Given the description of an element on the screen output the (x, y) to click on. 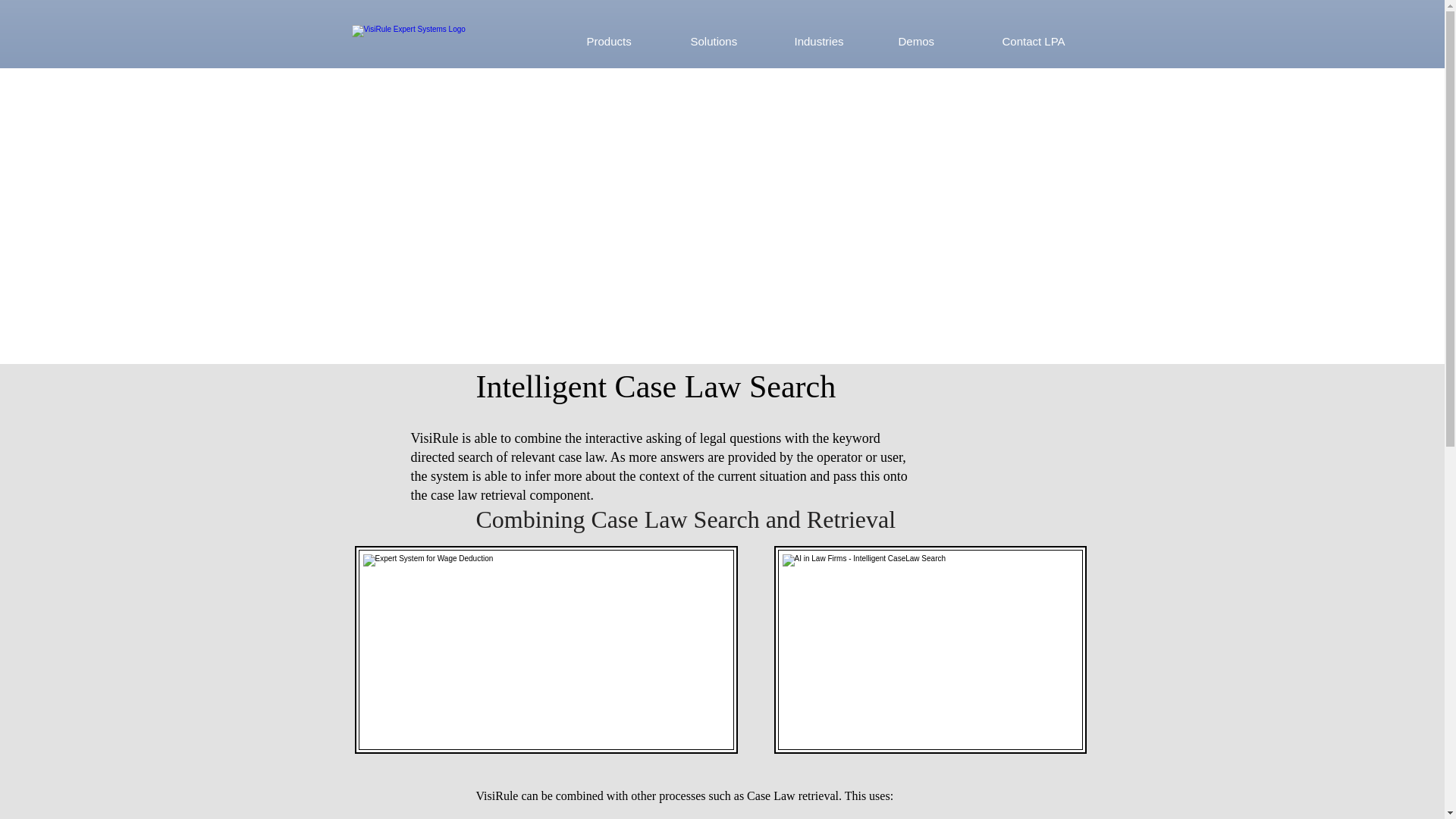
AI in Law Firms - Intelligent CaseLaw Search (929, 649)
Solutions (731, 41)
Products (626, 41)
Industries (834, 41)
Demos (938, 41)
Expert System for Wage Deduction (546, 649)
VisiRule Expert System Logo (435, 41)
Contact LPA (1041, 41)
